Given the description of an element on the screen output the (x, y) to click on. 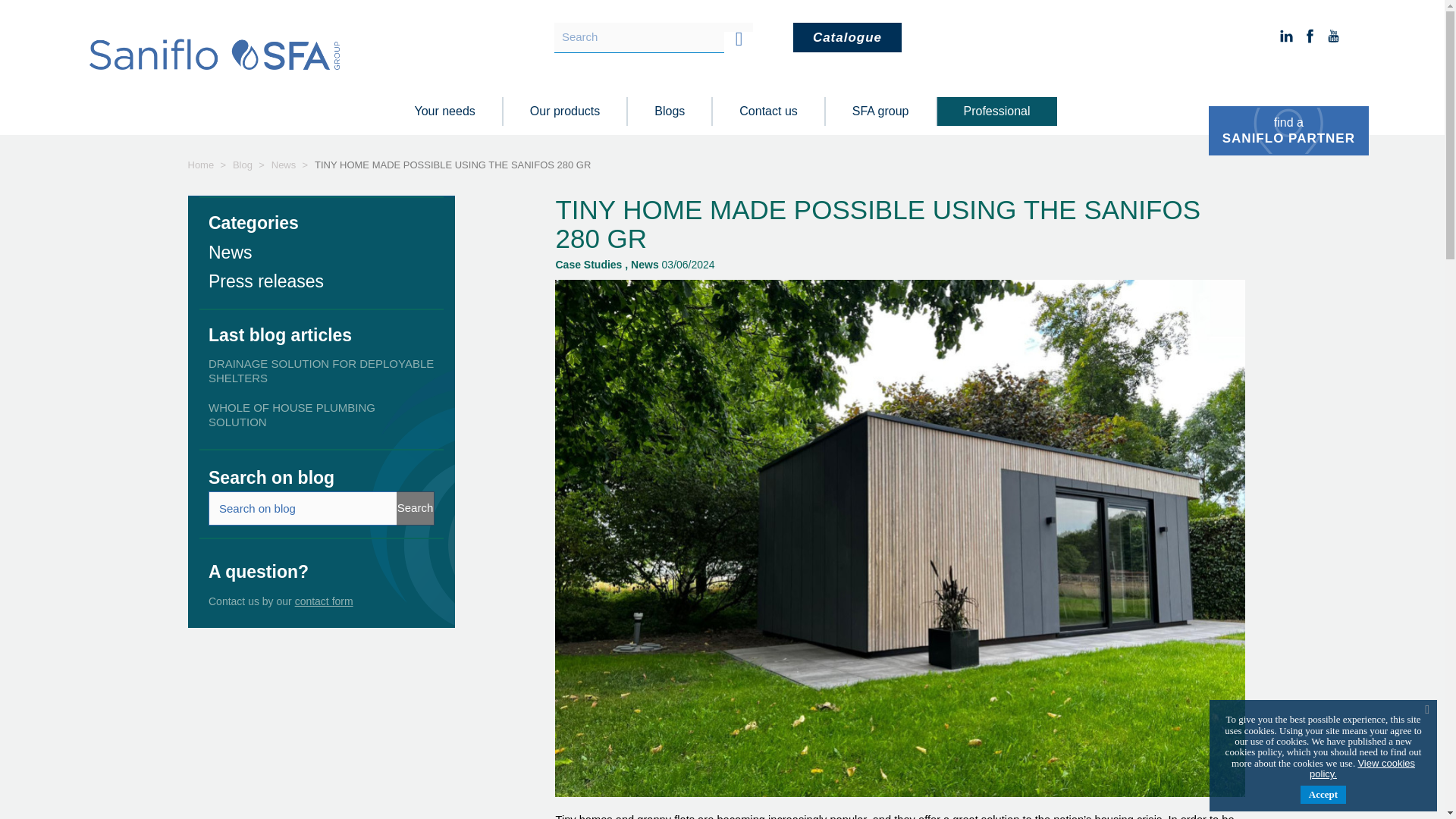
Our products (564, 112)
Contact us (767, 112)
Your needs (444, 112)
Your needs (444, 112)
Facebook (1309, 35)
Our products (564, 112)
Linkedin (1285, 35)
Blogs (669, 112)
Catalogue (1288, 130)
YouTube (847, 37)
